Given the description of an element on the screen output the (x, y) to click on. 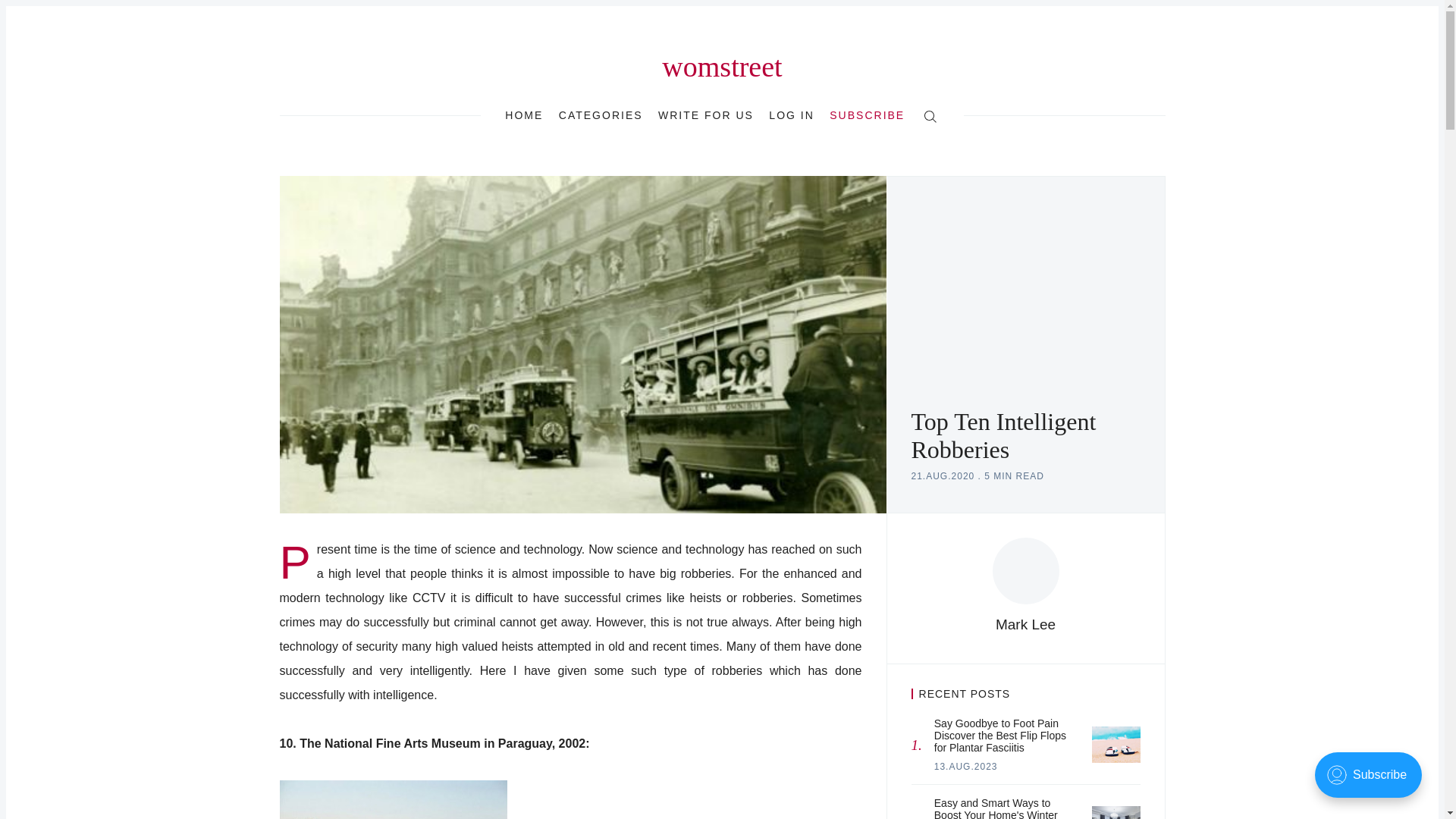
HOME (524, 114)
Mark Lee (1025, 624)
13 August 2023 (965, 766)
Easy and Smart Ways to Boost Your Home's Winter Curb Appeal (1116, 812)
SUBSCRIBE (866, 114)
CATEGORIES (601, 114)
WRITE FOR US (706, 114)
womstreet (721, 66)
LOG IN (790, 114)
